Given the description of an element on the screen output the (x, y) to click on. 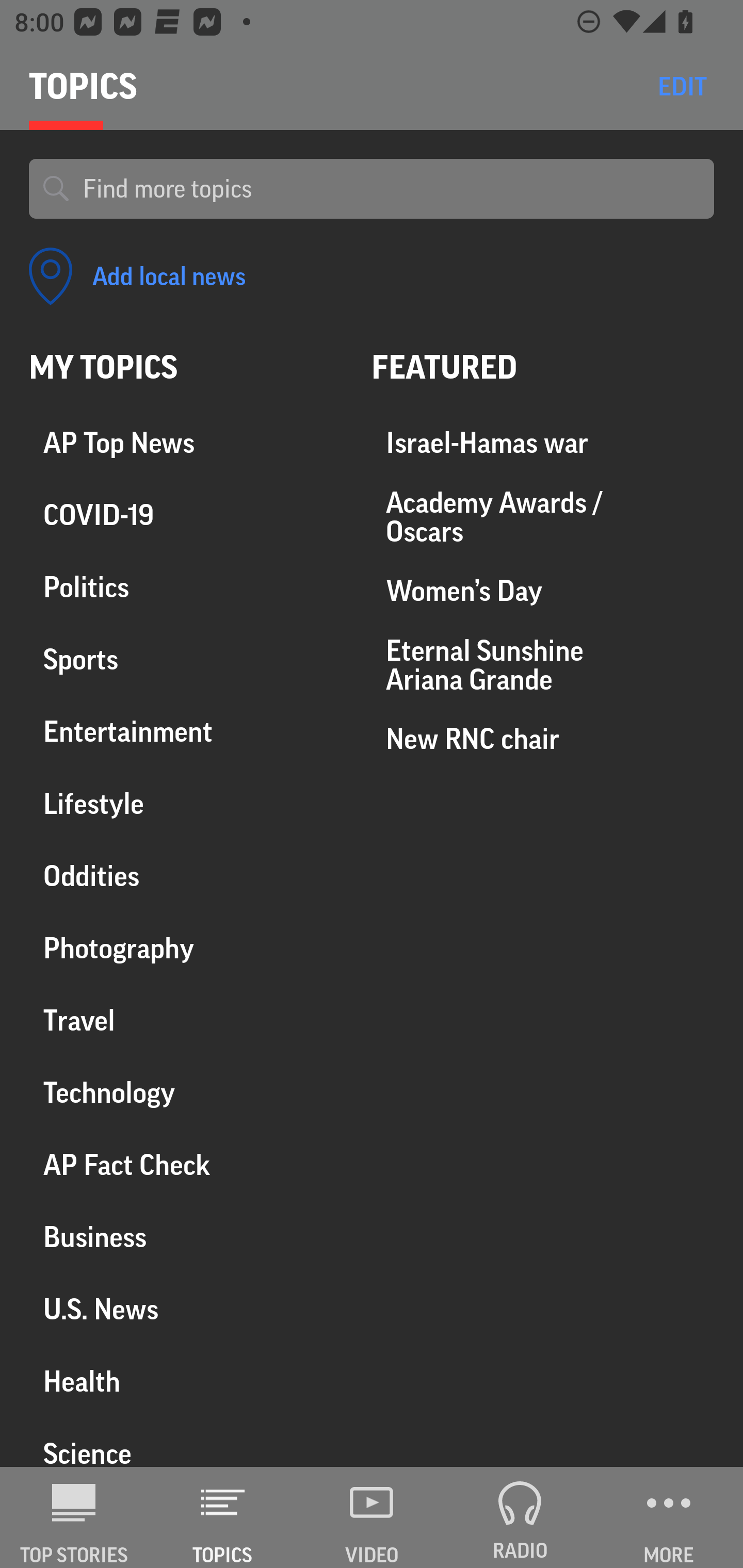
EDIT (682, 86)
Find more topics (391, 188)
Add local news (137, 276)
AP Top News (185, 443)
Israel-Hamas war (542, 443)
COVID-19 (185, 515)
Academy Awards / Oscars (542, 517)
Politics (185, 587)
Women’s Day (542, 591)
Sports (185, 660)
Eternal Sunshine Ariana Grande (542, 664)
Entertainment (185, 732)
New RNC chair (542, 738)
Lifestyle (185, 804)
Oddities (185, 876)
Photography (185, 948)
Travel (185, 1020)
Technology (185, 1092)
AP Fact Check (185, 1164)
Business (185, 1237)
U.S. News (185, 1309)
Health (185, 1381)
Science (185, 1442)
AP News TOP STORIES (74, 1517)
TOPICS (222, 1517)
VIDEO (371, 1517)
RADIO (519, 1517)
MORE (668, 1517)
